Given the description of an element on the screen output the (x, y) to click on. 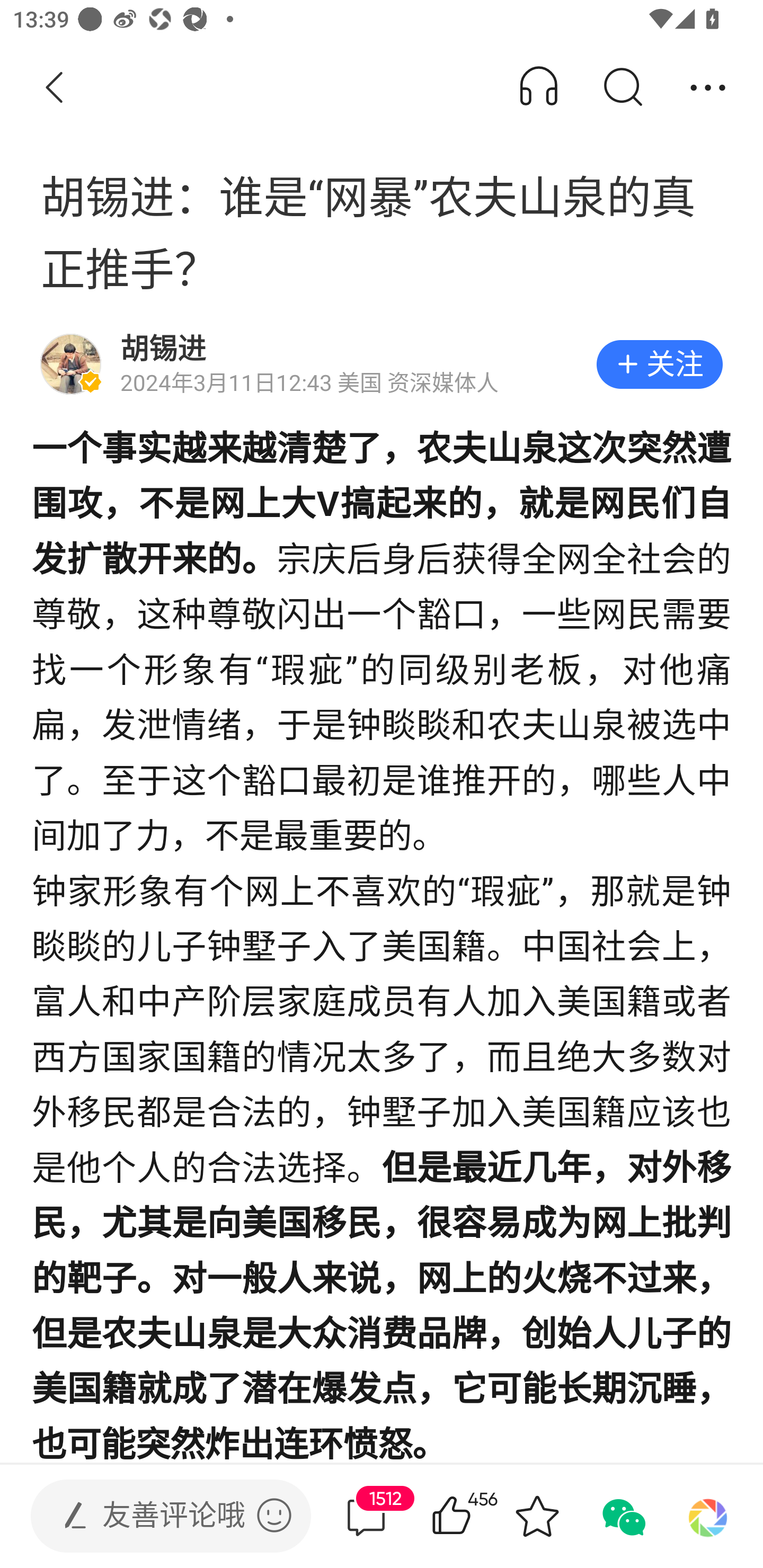
搜索  (622, 87)
分享  (707, 87)
 返回 (54, 87)
胡锡进 2024年3月11日12:43 美国 资深媒体人  关注 (381, 364)
 关注 (659, 364)
发表评论  友善评论哦 发表评论  (155, 1516)
1512评论  1512 评论 (365, 1516)
456赞 (476, 1516)
收藏  (536, 1516)
分享到微信  (622, 1516)
分享到朋友圈 (707, 1516)
 (274, 1515)
